Given the description of an element on the screen output the (x, y) to click on. 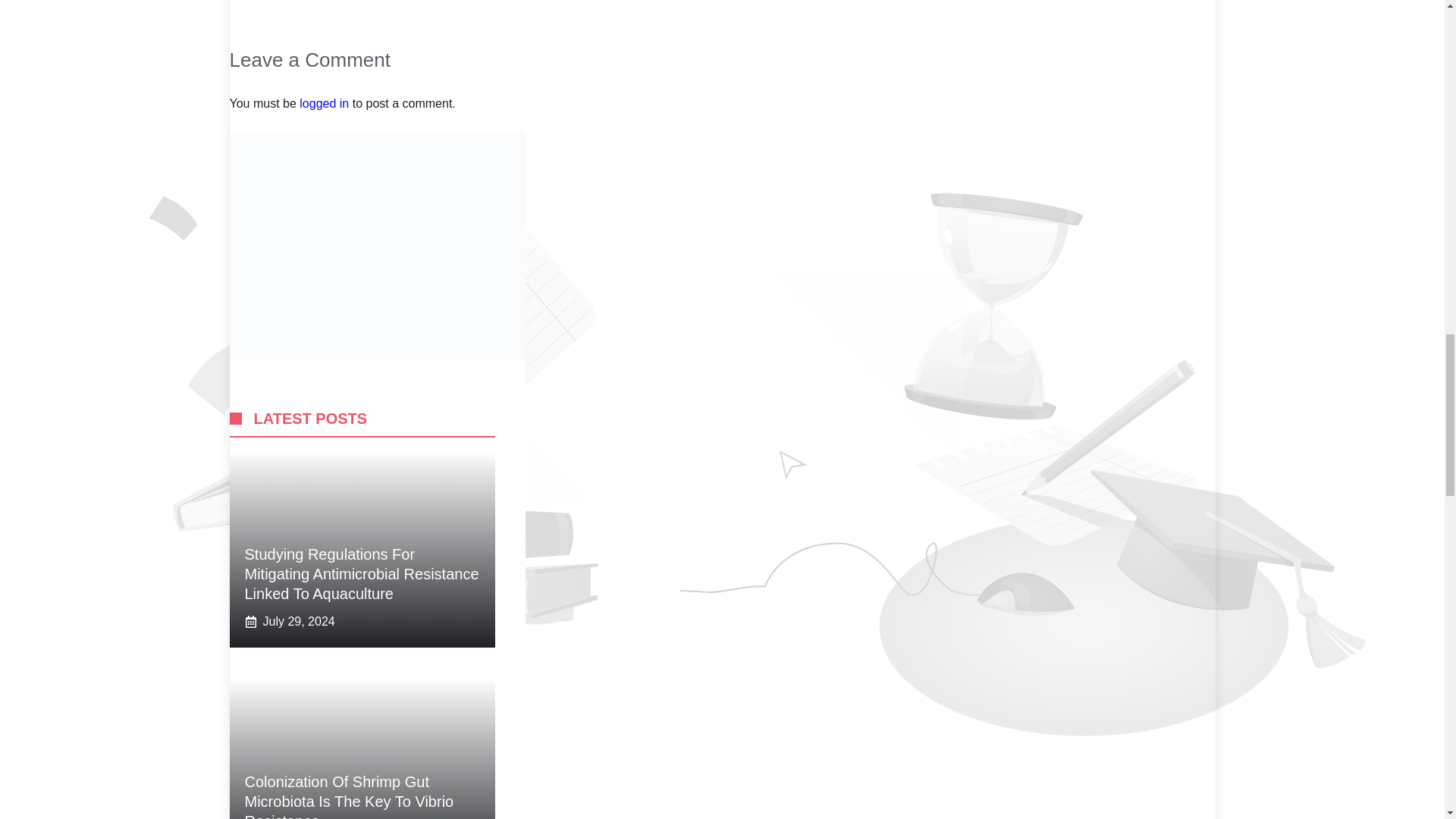
logged in (324, 103)
